Given the description of an element on the screen output the (x, y) to click on. 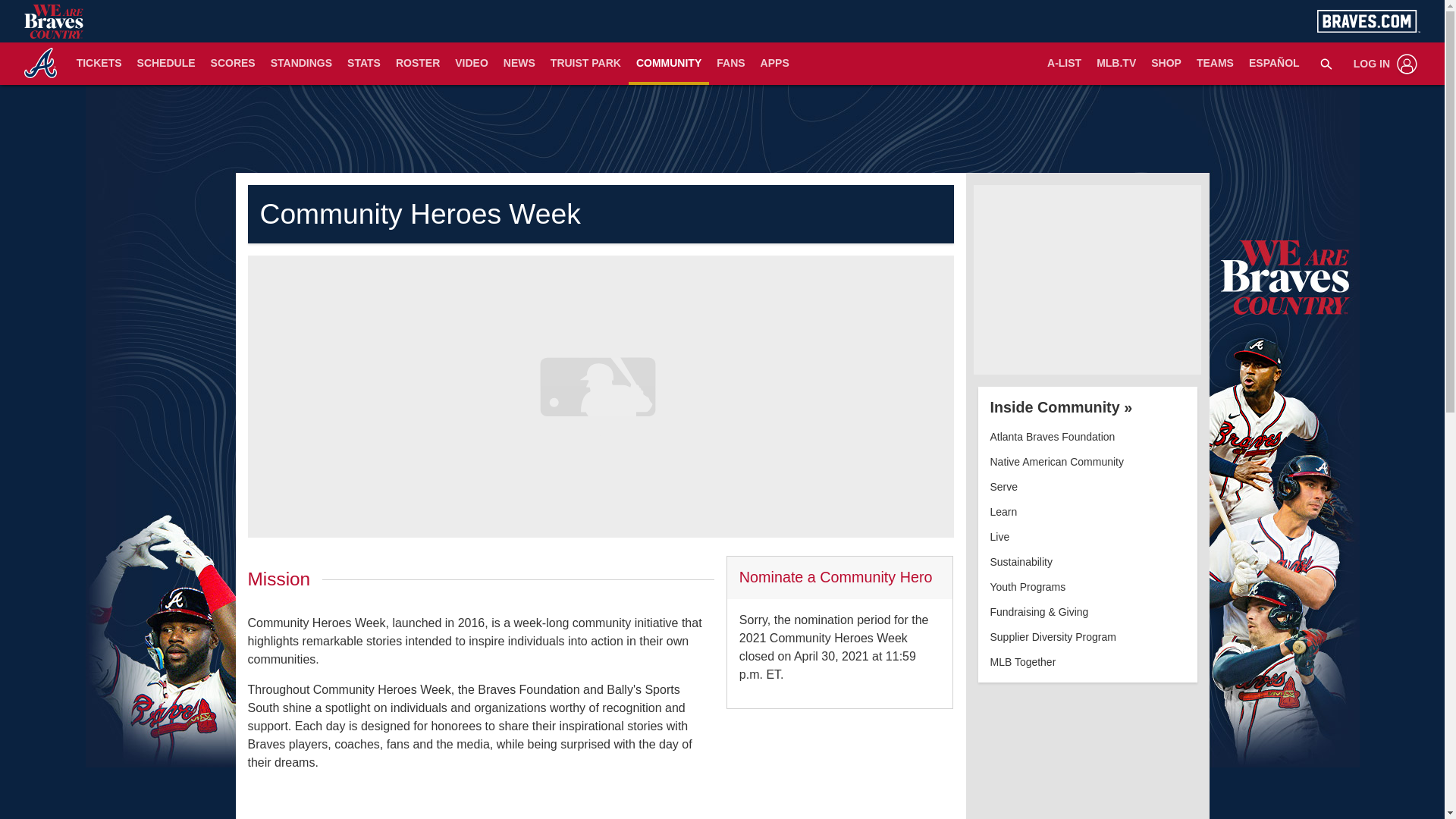
STATS (363, 63)
SCHEDULE (166, 63)
search-8364 (1326, 63)
SCORES (233, 63)
STANDINGS (301, 63)
ROSTER (417, 63)
TICKETS (98, 63)
